Given the description of an element on the screen output the (x, y) to click on. 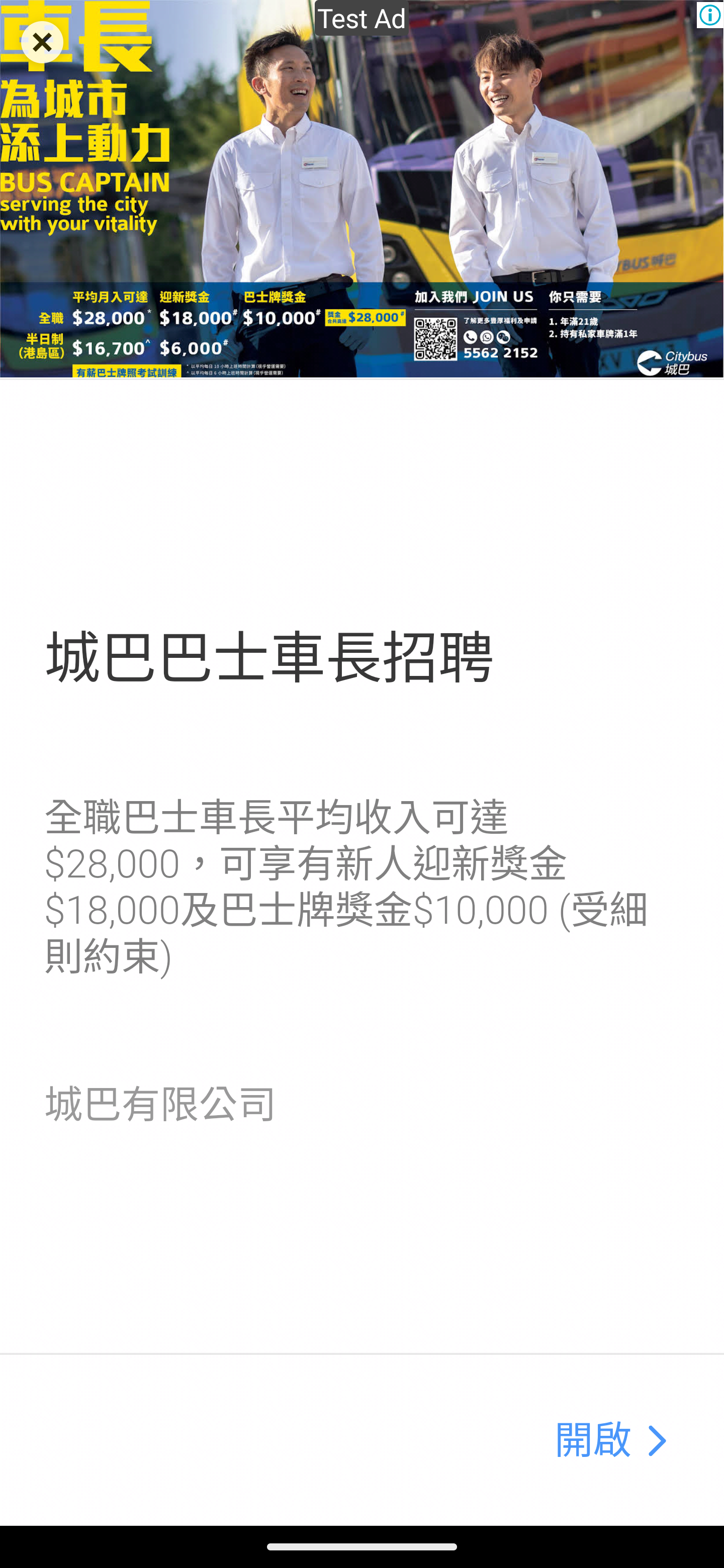
bc-recruitment (362, 189)
城巴巴士車長招聘 (268, 658)
城巴有限公司 (159, 1104)
bc-recruitment (655, 1440)
開啟 (592, 1440)
